Given the description of an element on the screen output the (x, y) to click on. 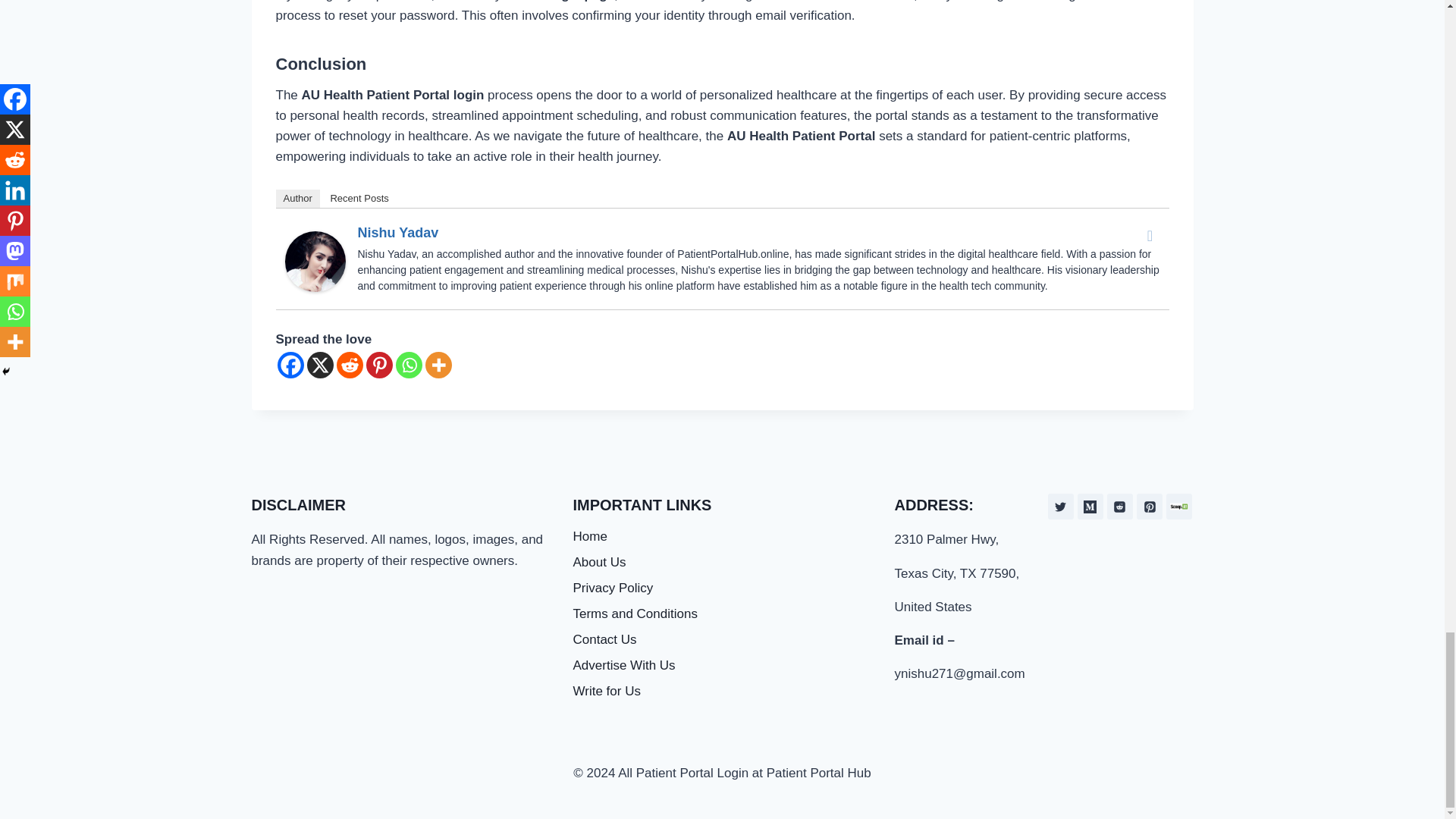
Author (298, 198)
Twitter (1149, 235)
Nishu Yadav (315, 260)
Recent Posts (358, 198)
